Given the description of an element on the screen output the (x, y) to click on. 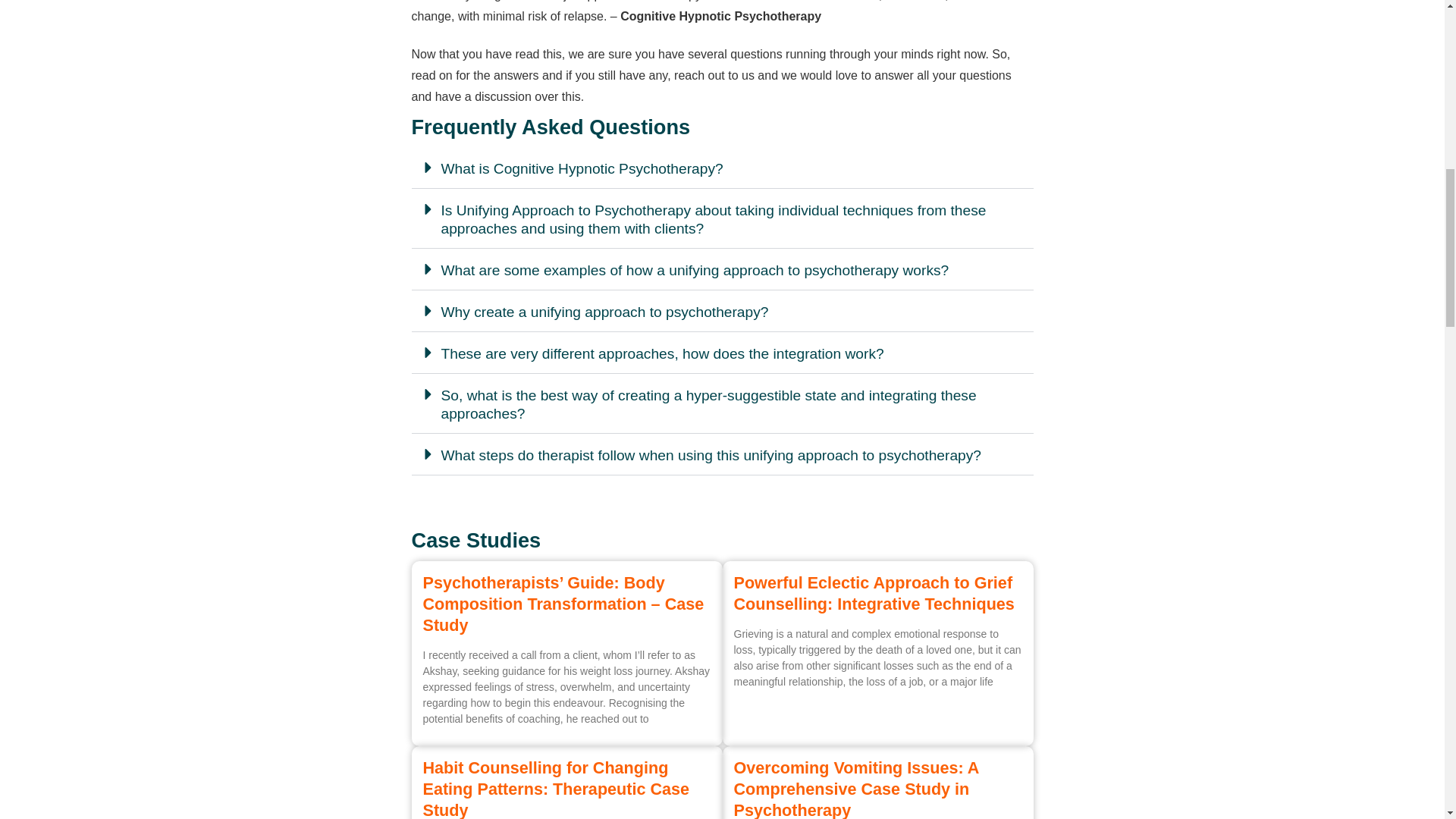
What is Cognitive Hypnotic Psychotherapy? (582, 168)
Why create a unifying approach to psychotherapy? (604, 311)
